Given the description of an element on the screen output the (x, y) to click on. 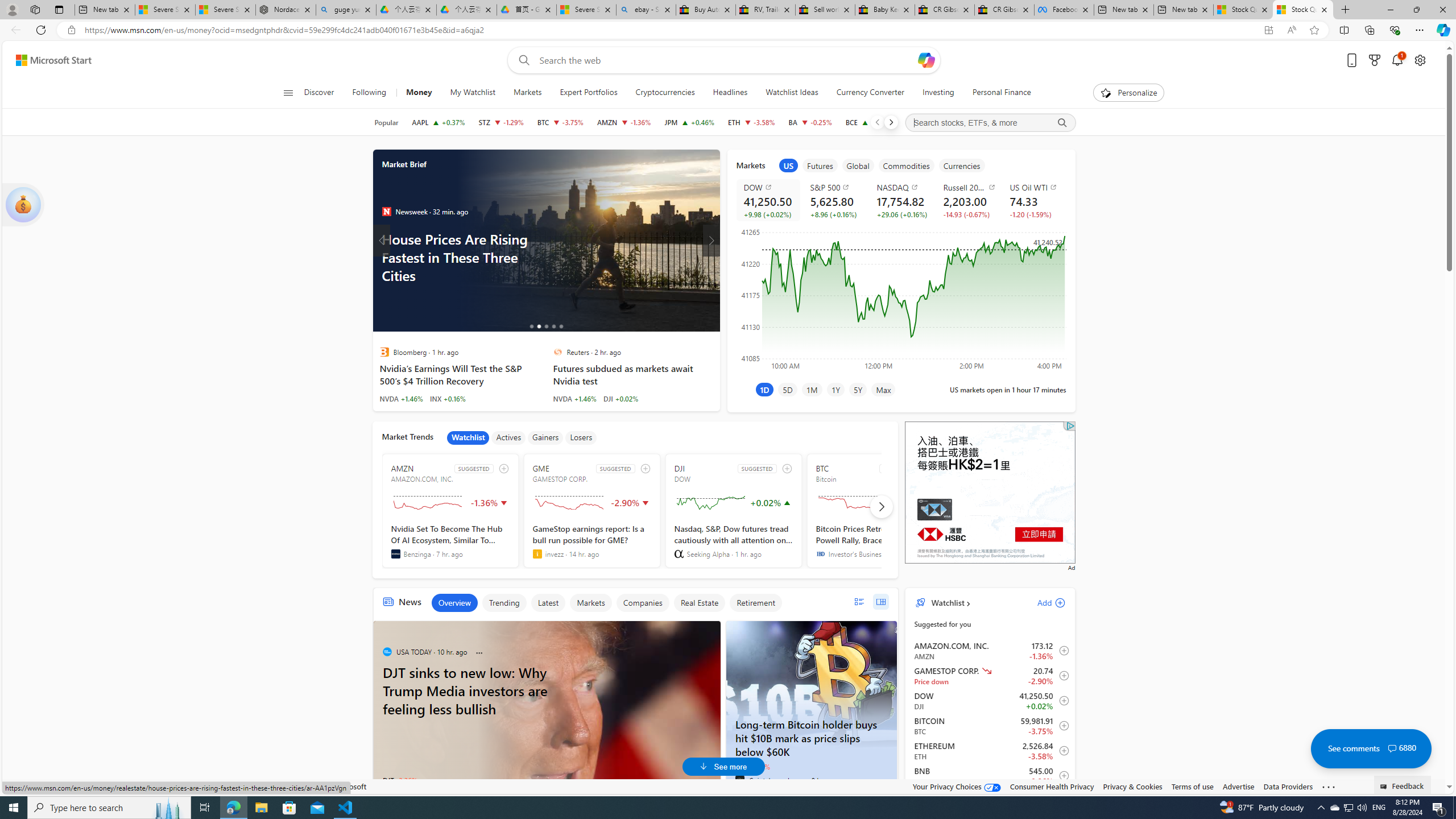
NASDAQ COMP increase 17,754.82 +29.06 +0.16% (901, 200)
Advertisement (989, 492)
Money (419, 92)
Markets (527, 92)
See comments 6880 (1370, 748)
Actives (508, 437)
AMZN AMAZON.COM, INC. decrease 173.12 -2.38 -1.36% (623, 122)
Your Privacy Choices (956, 786)
Russell 2000 (969, 187)
